Given the description of an element on the screen output the (x, y) to click on. 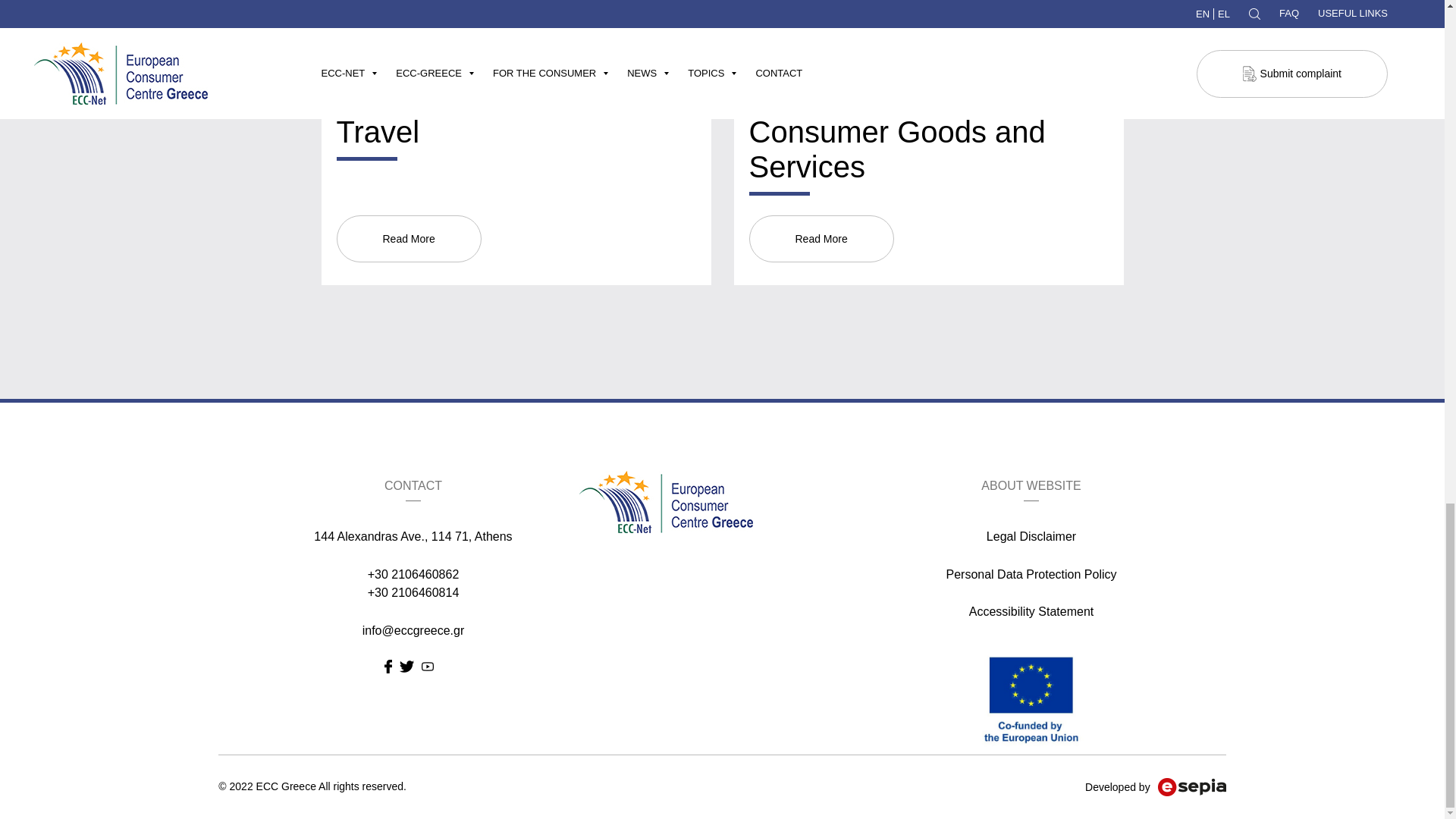
Accessibility Statement (1031, 611)
Read More (821, 238)
Personal Data Protection Policy (1030, 574)
Read More (408, 238)
Legal Disclaimer (1031, 535)
